Given the description of an element on the screen output the (x, y) to click on. 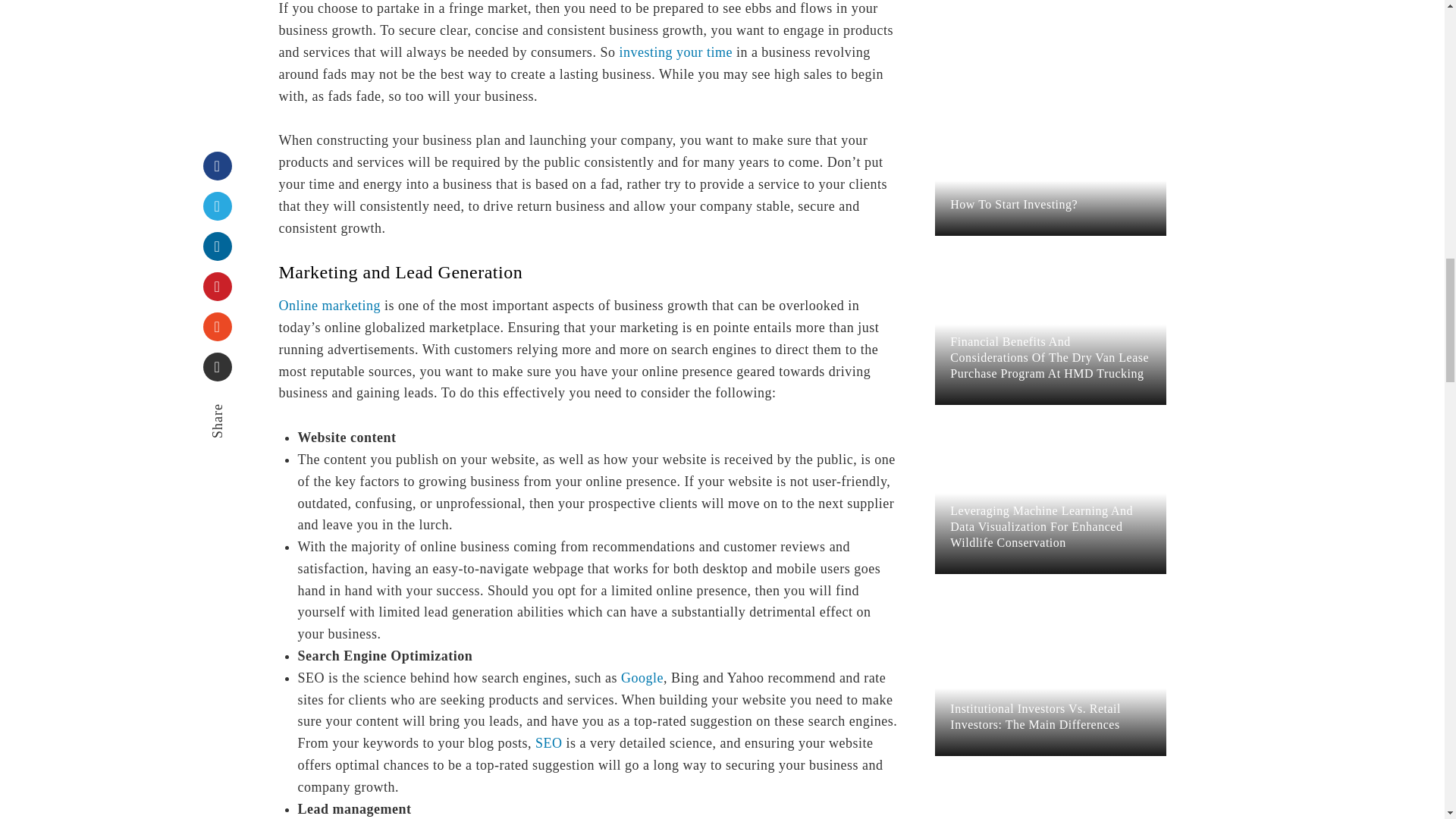
SEO (548, 743)
Google (642, 677)
